Given the description of an element on the screen output the (x, y) to click on. 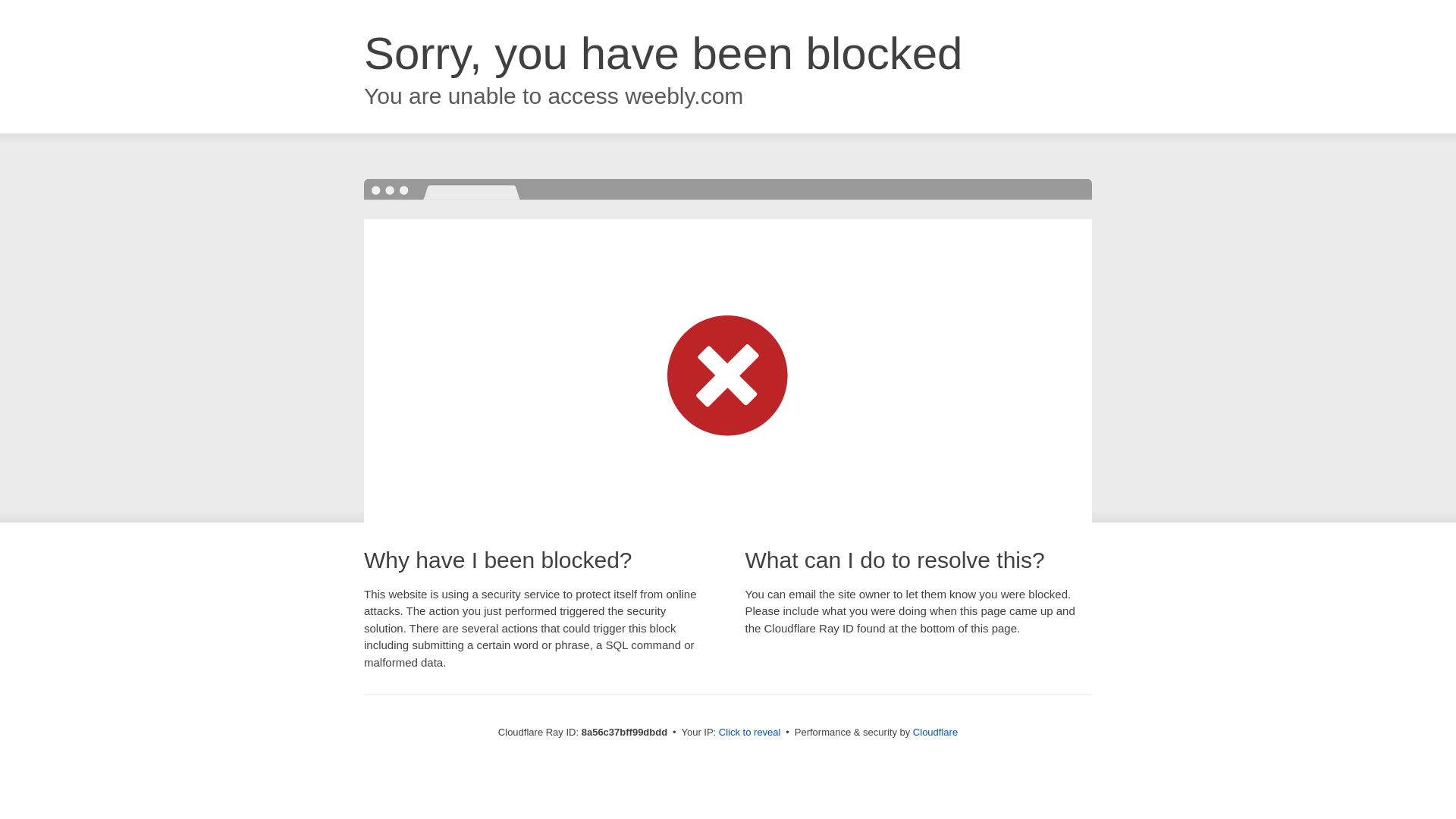
Cloudflare (935, 731)
Click to reveal (749, 732)
